Given the description of an element on the screen output the (x, y) to click on. 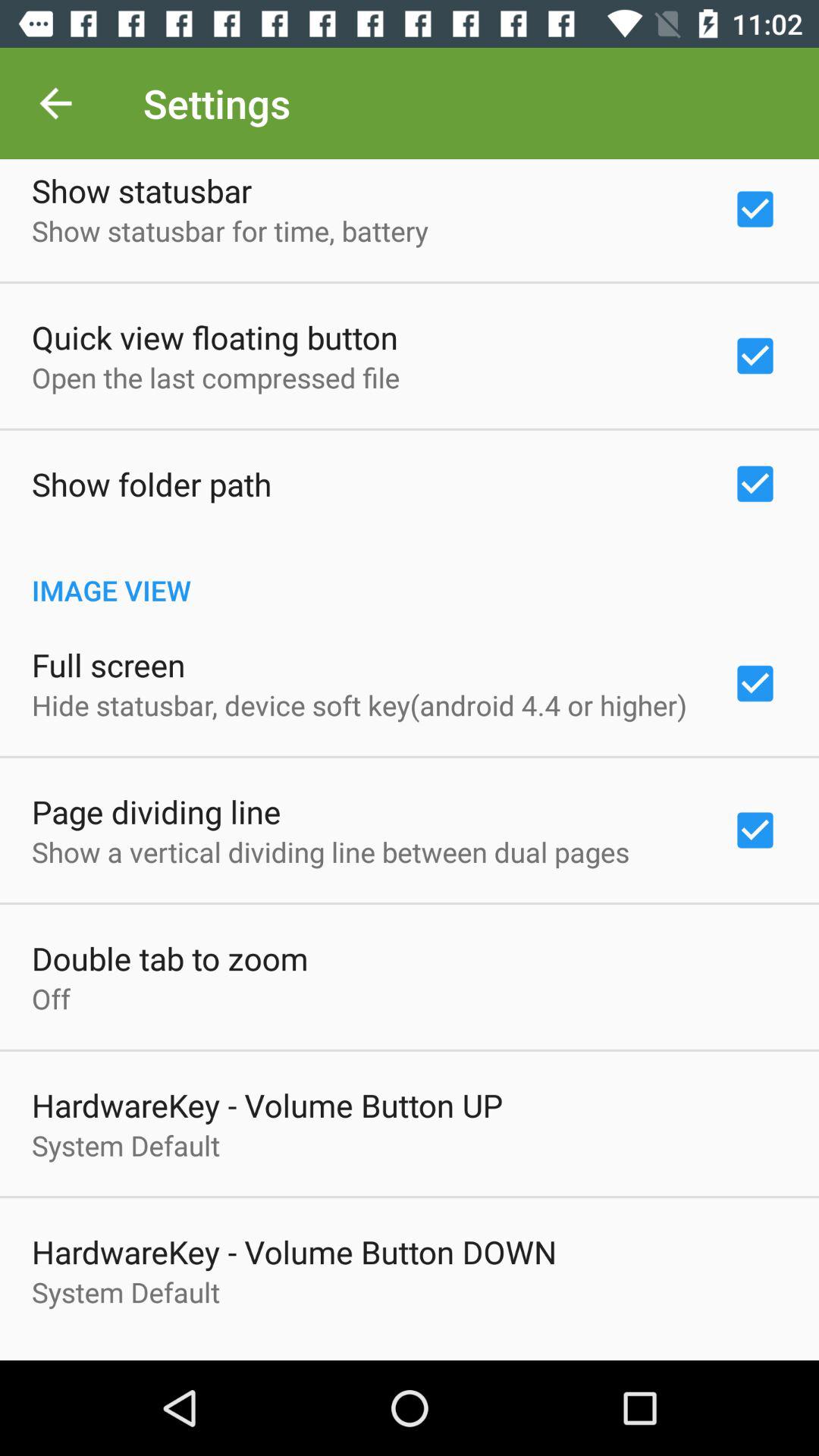
press the icon below show statusbar for (214, 336)
